Given the description of an element on the screen output the (x, y) to click on. 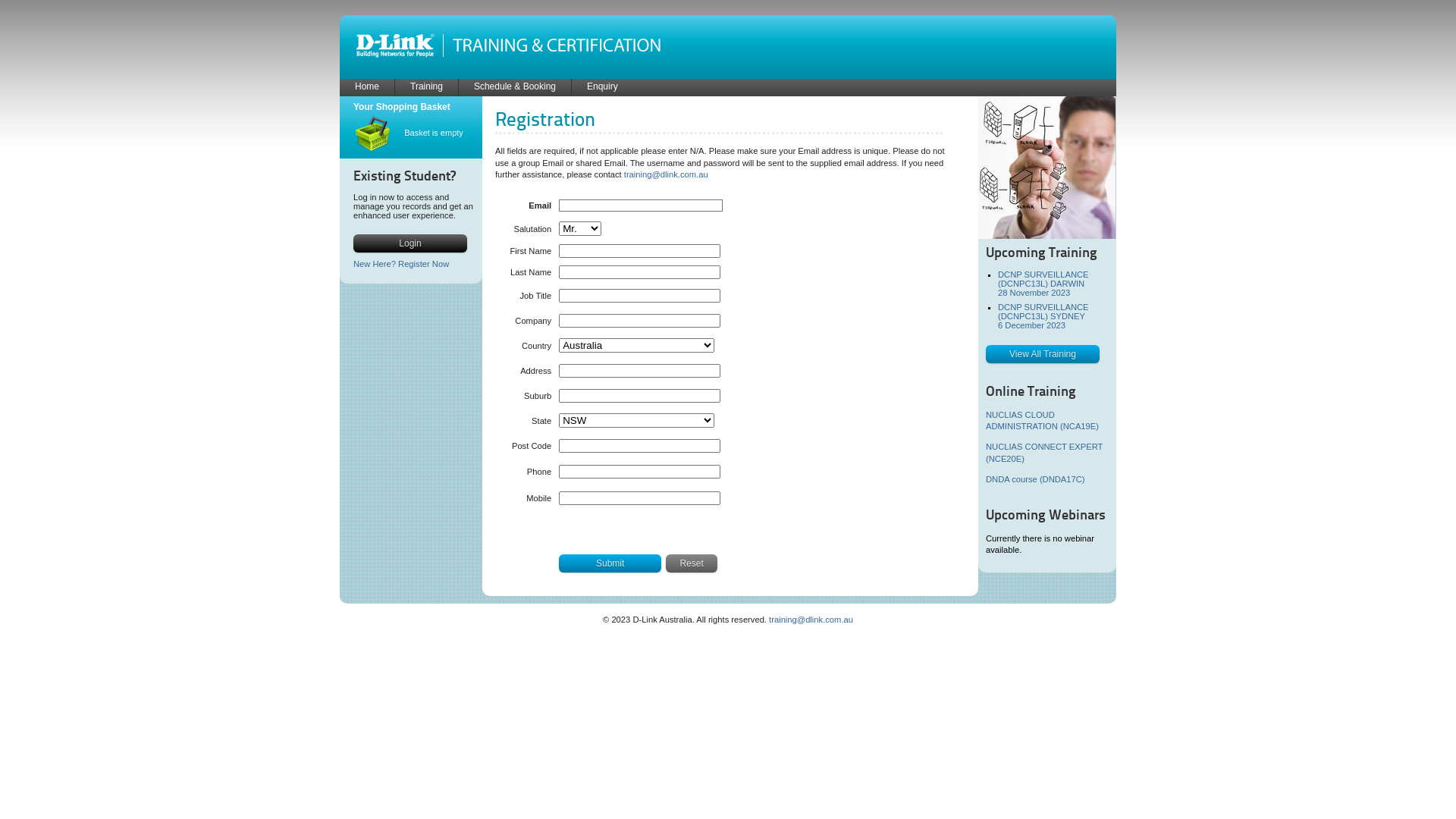
Schedule & Booking Element type: text (514, 86)
DNDA course (DNDA17C) Element type: text (1035, 478)
Please include your area code if applicable Element type: hover (639, 471)
Login Element type: text (410, 243)
training@dlink.com.au Element type: text (666, 173)
Training Element type: text (426, 86)
Reset Element type: text (690, 563)
Enquiry Element type: text (602, 86)
Home Element type: text (366, 86)
DCNP SURVEILLANCE (DCNPC13L) SYDNEY
6 December 2023 Element type: text (1042, 315)
View All Training Element type: text (1042, 354)
Submit Element type: text (609, 563)
New Here? Register Now Element type: text (400, 263)
DCNP SURVEILLANCE (DCNPC13L) DARWIN
28 November 2023 Element type: text (1042, 283)
NUCLIAS CLOUD ADMINISTRATION (NCA19E) Element type: text (1041, 420)
training@dlink.com.au Element type: text (810, 619)
NUCLIAS CONNECT EXPERT (NCE20E) Element type: text (1043, 452)
